Given the description of an element on the screen output the (x, y) to click on. 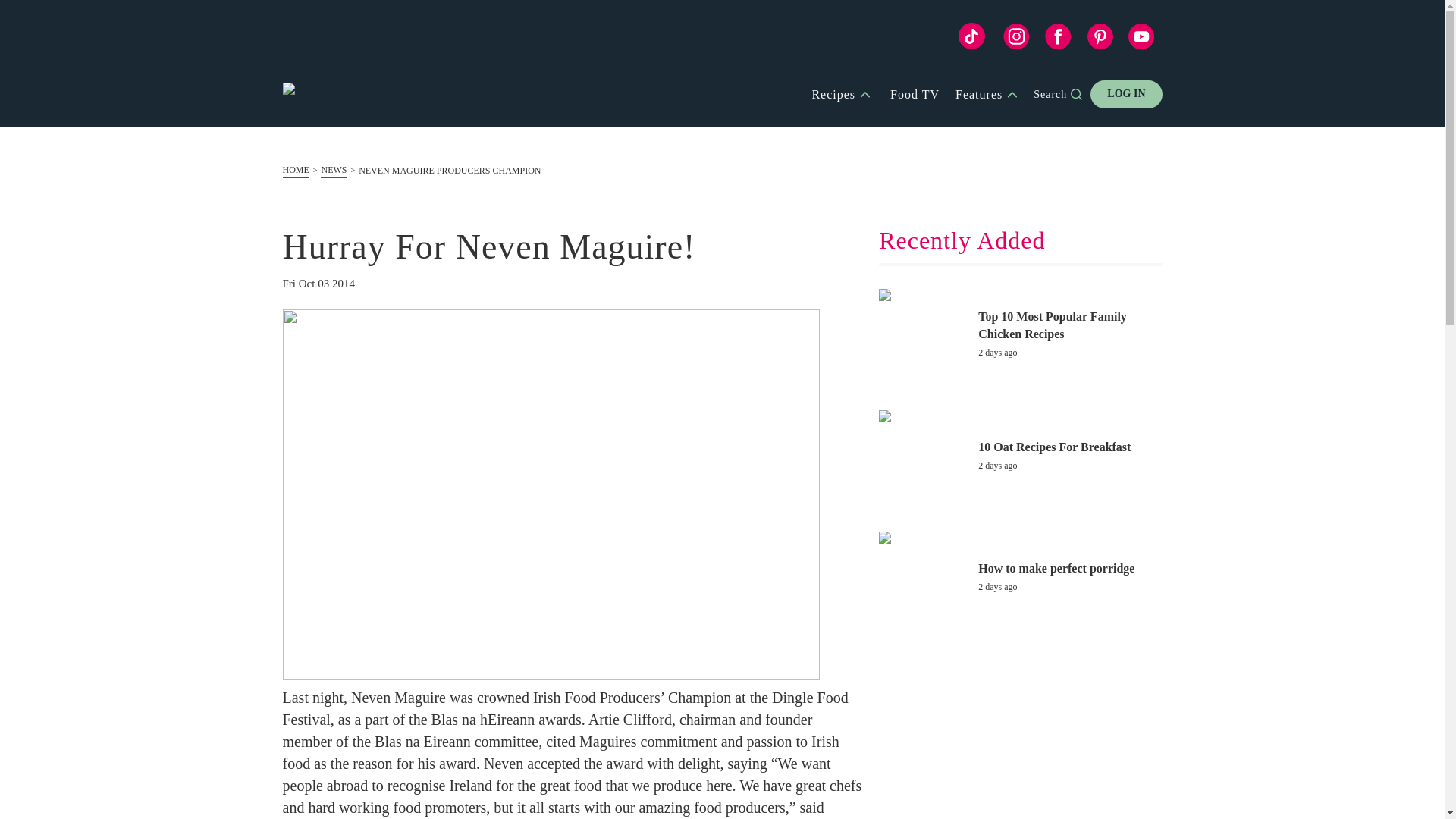
LOG IN (1125, 94)
Food TV (913, 93)
Recipes (842, 93)
NEWS (333, 170)
Search (1059, 94)
Top 10 Most Popular Family Chicken Recipes (1067, 325)
HOME (295, 170)
How to make perfect porridge (1067, 568)
NEVEN MAGUIRE PRODUCERS CHAMPION (449, 170)
Features (988, 93)
